Given the description of an element on the screen output the (x, y) to click on. 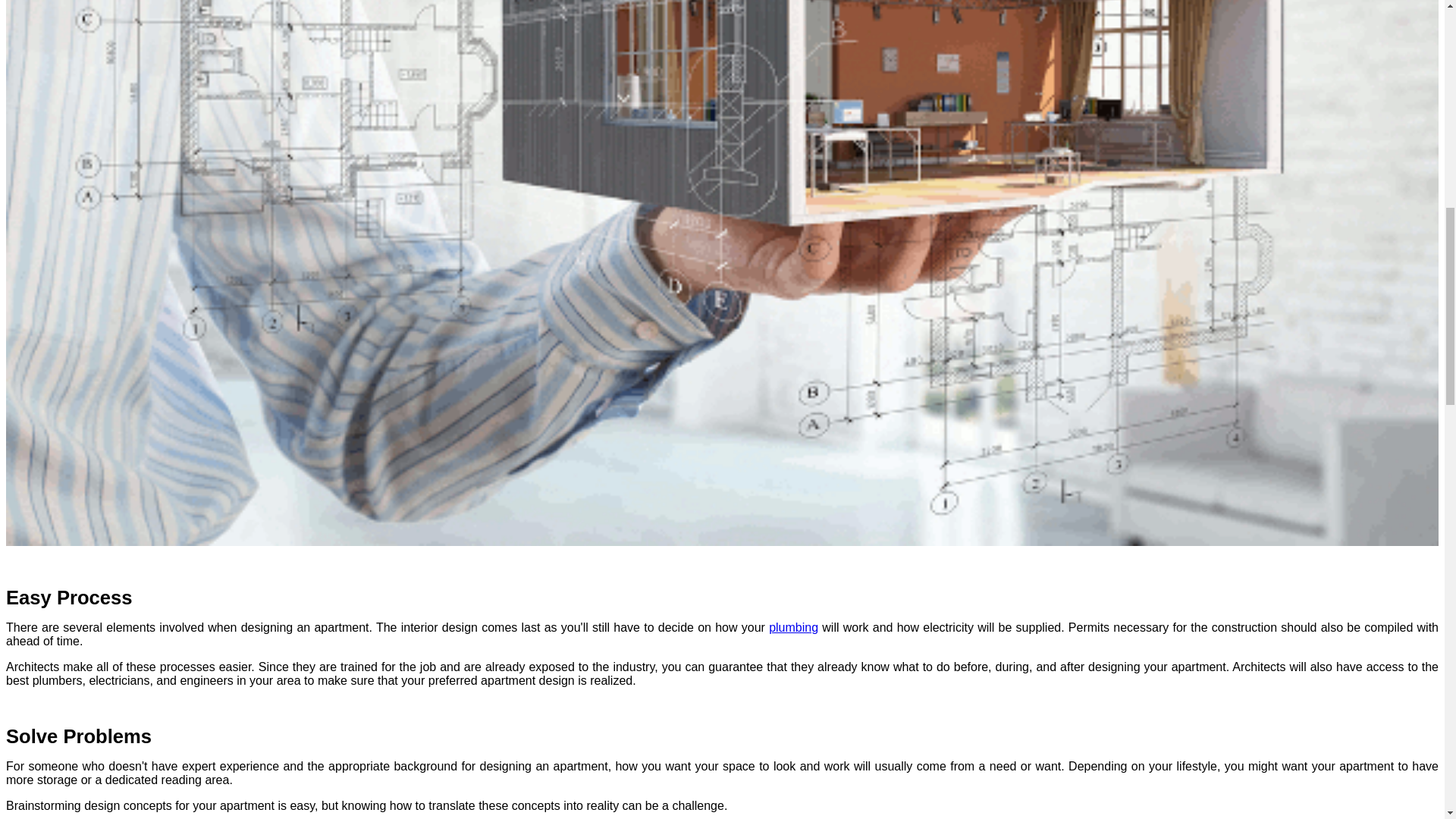
plumbing (793, 626)
